Given the description of an element on the screen output the (x, y) to click on. 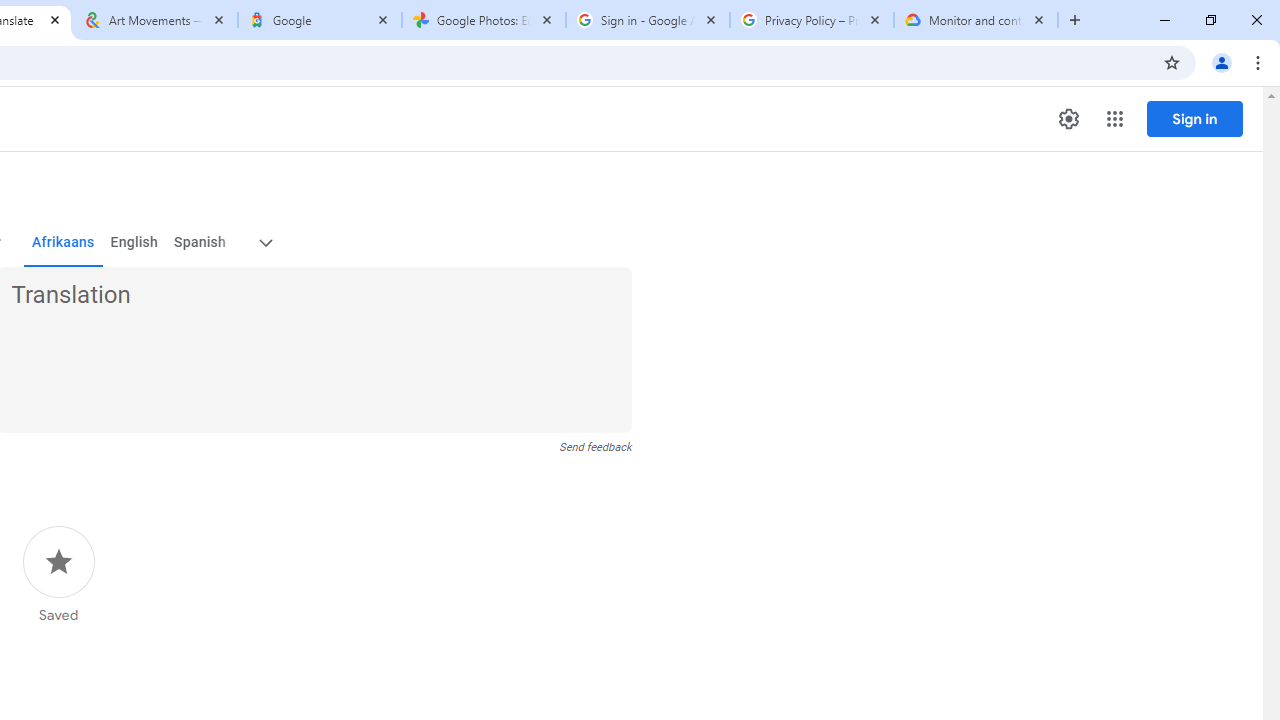
English (134, 242)
Google (319, 20)
Afrikaans (62, 242)
Sign in - Google Accounts (647, 20)
Send feedback (595, 447)
